Given the description of an element on the screen output the (x, y) to click on. 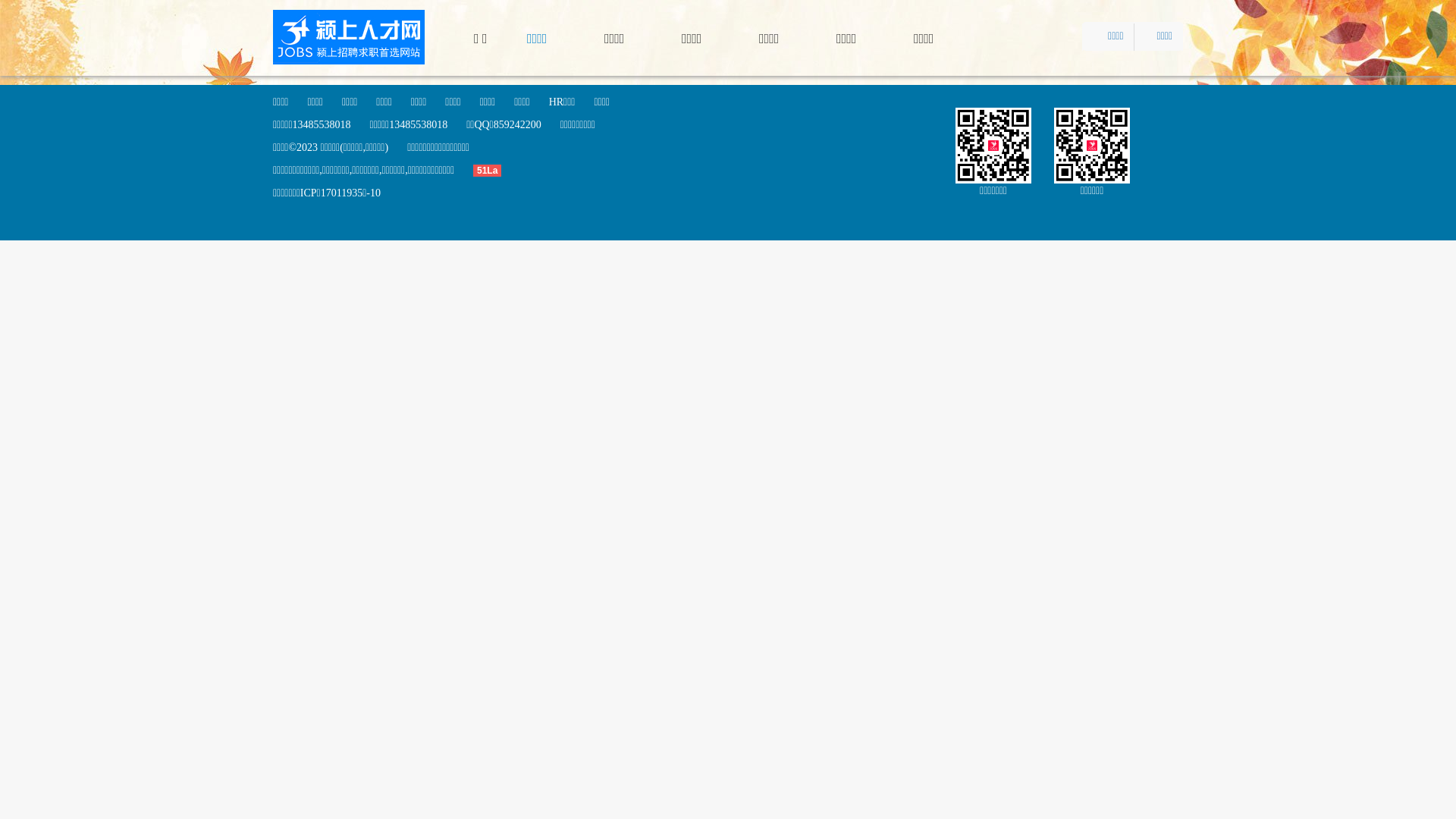
51La Element type: text (496, 169)
